Given the description of an element on the screen output the (x, y) to click on. 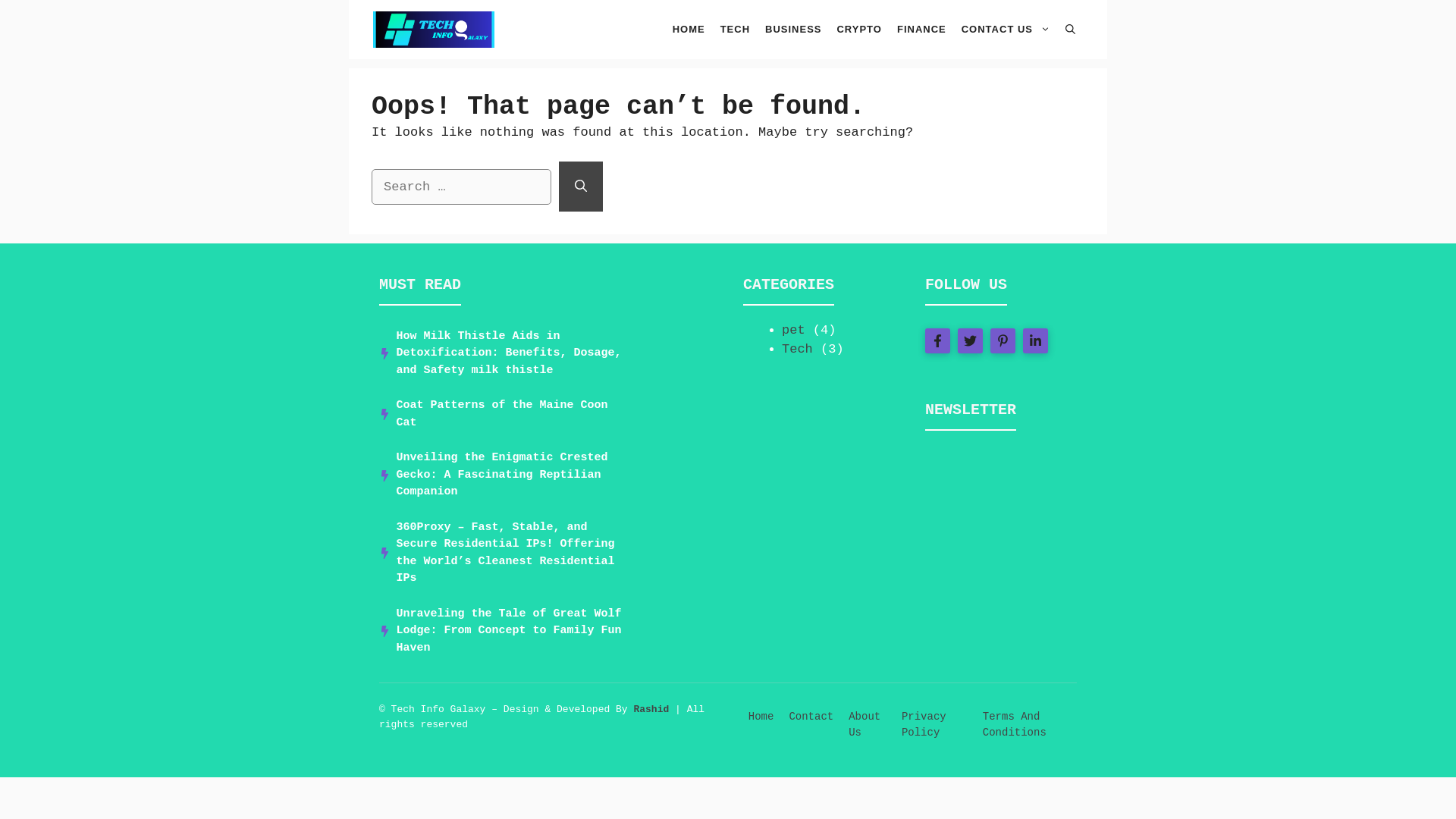
CONTACT US (1005, 29)
pet (793, 329)
Rashid (650, 708)
Tech (796, 349)
CRYPTO (858, 29)
TECH (735, 29)
FINANCE (921, 29)
About Us (864, 724)
Coat Patterns of the Maine Coon Cat (501, 413)
Privacy Policy (923, 724)
Search for: (461, 186)
Contact (810, 716)
